Given the description of an element on the screen output the (x, y) to click on. 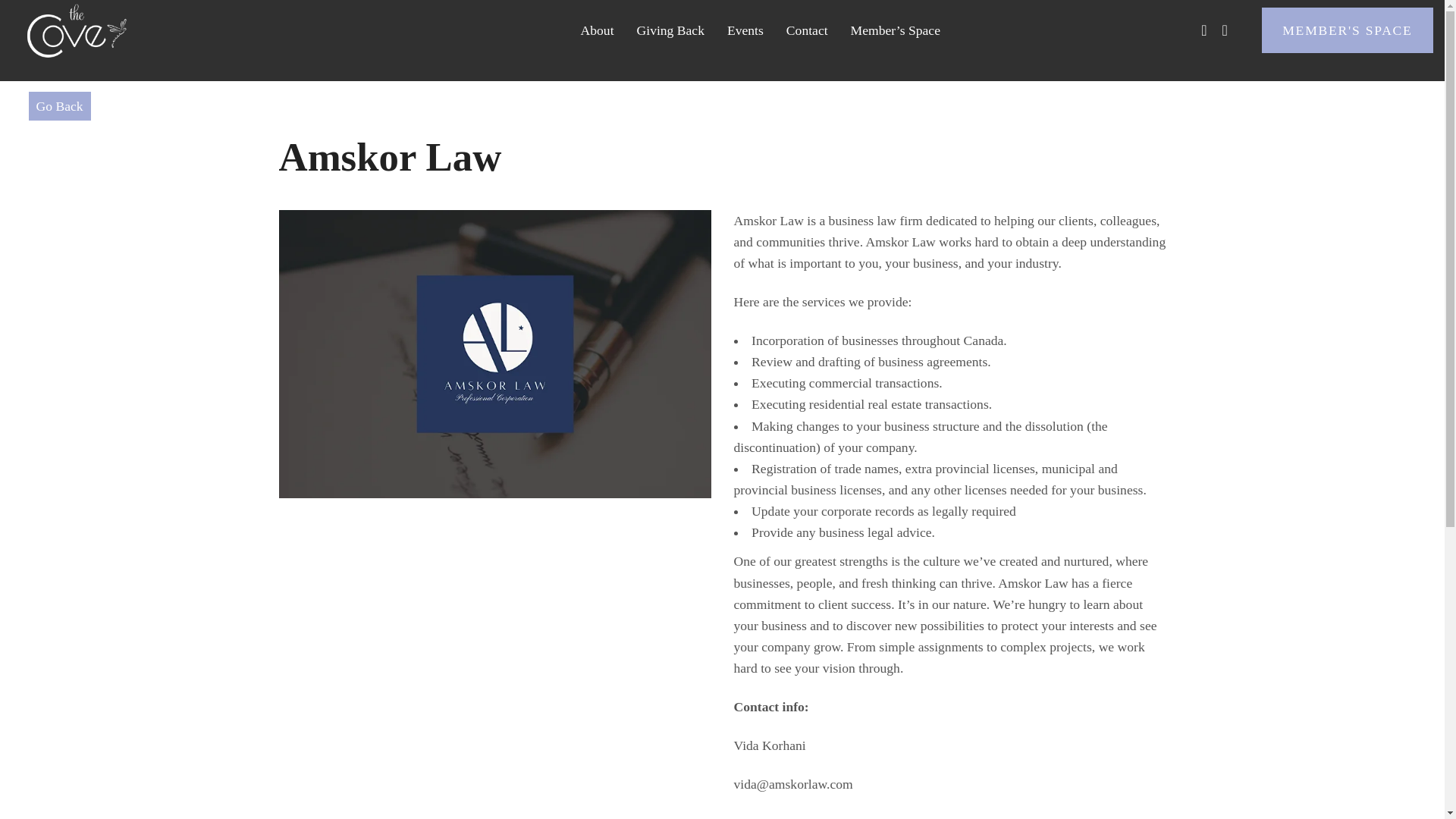
Go Back (59, 105)
Giving Back (671, 30)
Contact (807, 30)
MEMBER'S SPACE (1347, 30)
cove-referral-bank-thumb-al (495, 353)
Events (745, 30)
About (597, 30)
Members (1347, 30)
